Given the description of an element on the screen output the (x, y) to click on. 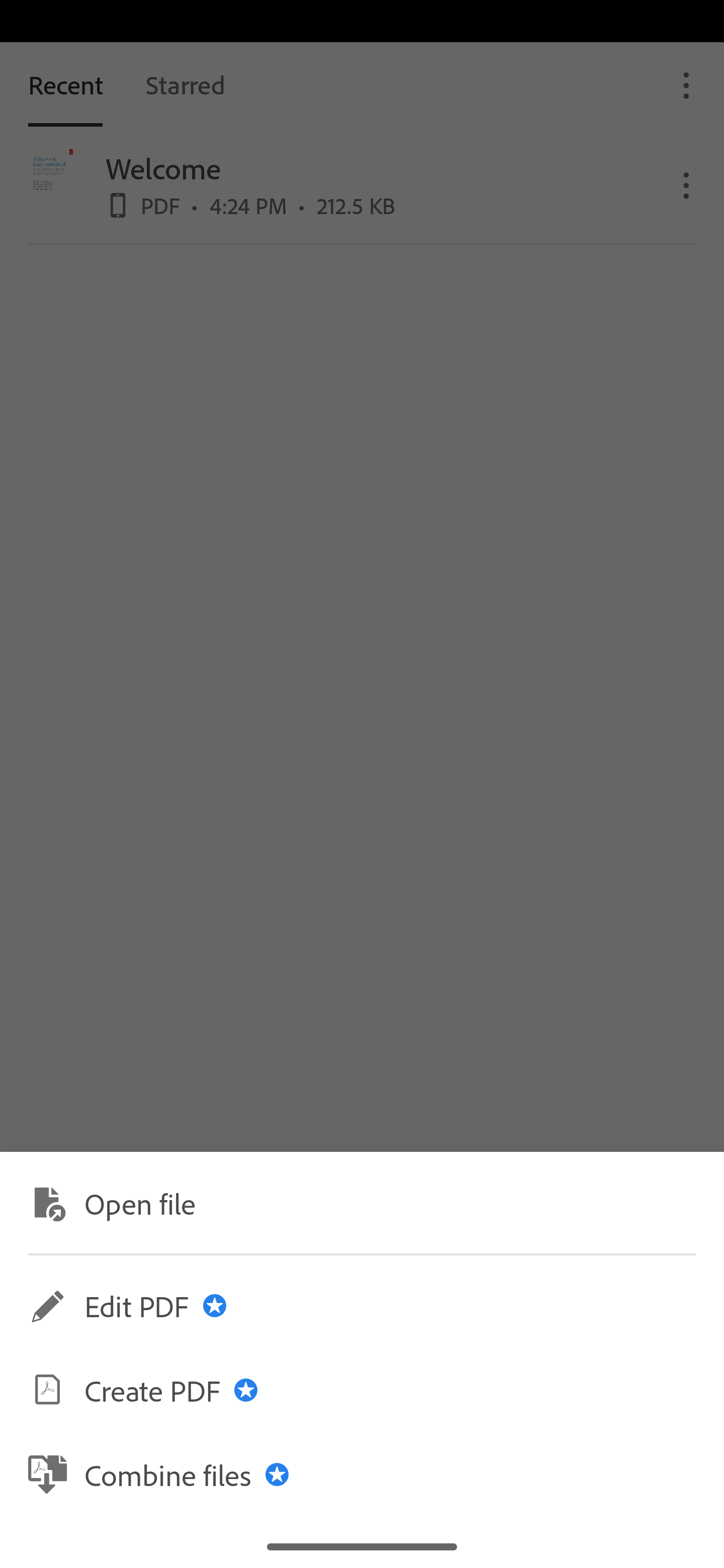
Open file (362, 1202)
Edit PDF Premium (362, 1305)
Create PDF Premium (362, 1389)
Combine files Premium (362, 1473)
